Given the description of an element on the screen output the (x, y) to click on. 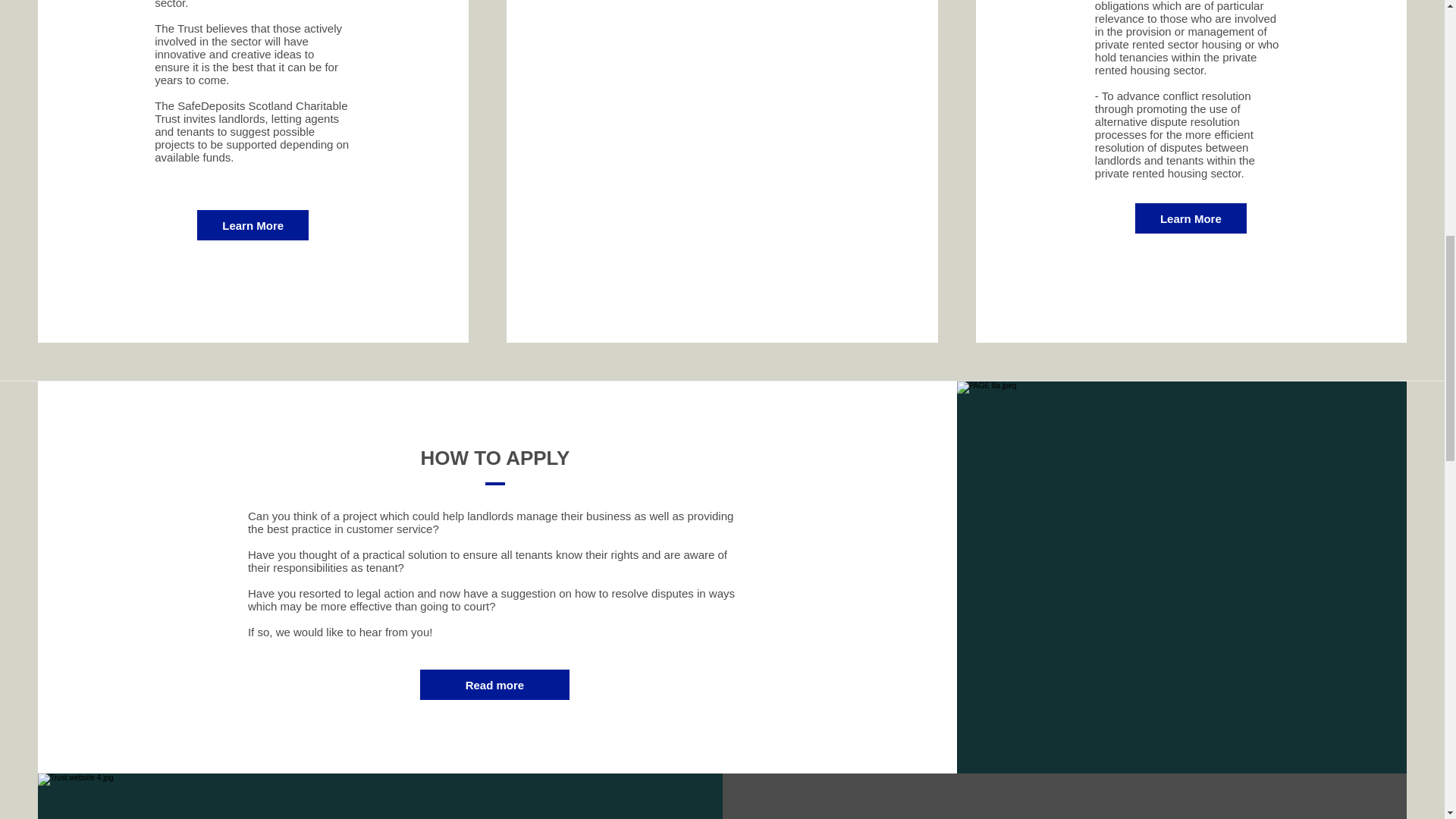
Read more (494, 684)
Learn More (1190, 218)
Learn More (252, 224)
